Given the description of an element on the screen output the (x, y) to click on. 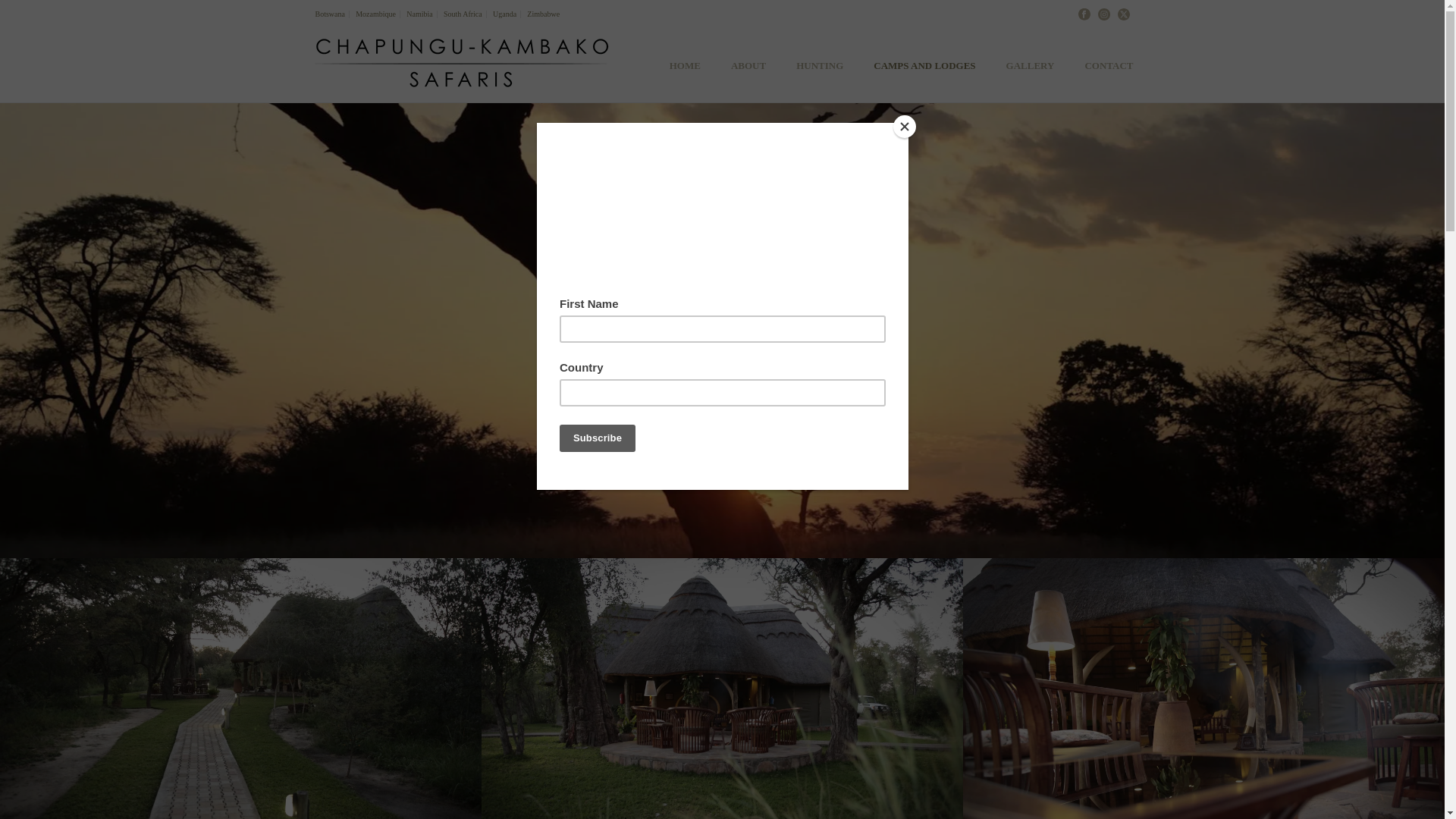
Botswana (330, 14)
i3b2802-1 (240, 688)
CAMPS AND LODGES (924, 64)
Namibia (419, 14)
CAMPS AND LODGES (924, 64)
Mozambique (376, 14)
i3b2807-1 (721, 688)
Uganda (505, 14)
GALLERY (1030, 64)
HUNTING (819, 64)
HUNTING (819, 64)
CONTACT (1108, 64)
South Africa (462, 14)
The Bigger Side of Trophy Hunting (459, 64)
Zimbabwe (542, 14)
